Given the description of an element on the screen output the (x, y) to click on. 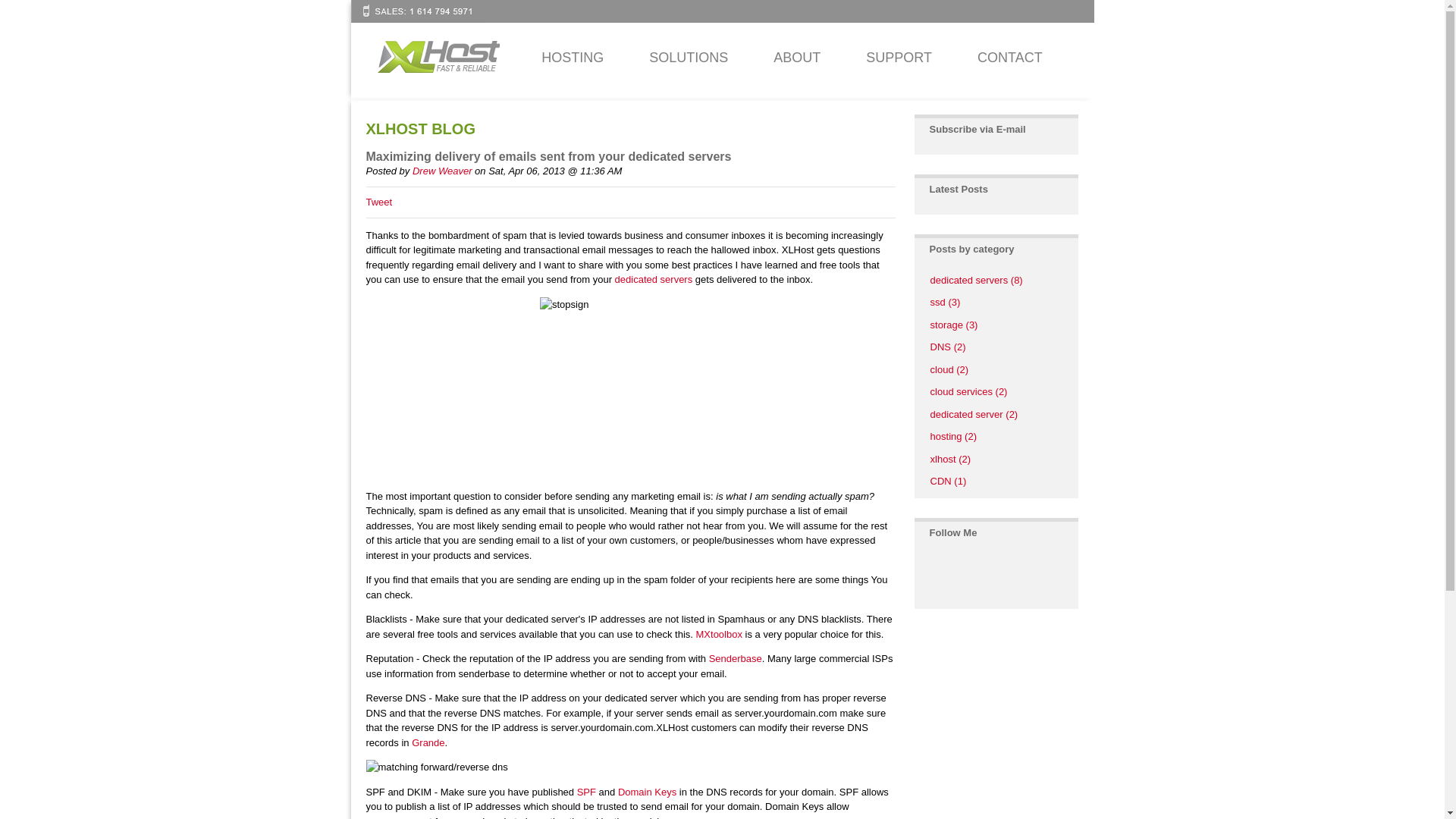
MXtoolbox (718, 633)
dedicated servers (653, 279)
Grande (428, 742)
HOSTING (572, 58)
Domain Keys (647, 791)
Senderbase (735, 658)
SOLUTIONS (688, 58)
ABOUT (797, 58)
Follow us on Twitter (933, 576)
SPF (585, 791)
